Given the description of an element on the screen output the (x, y) to click on. 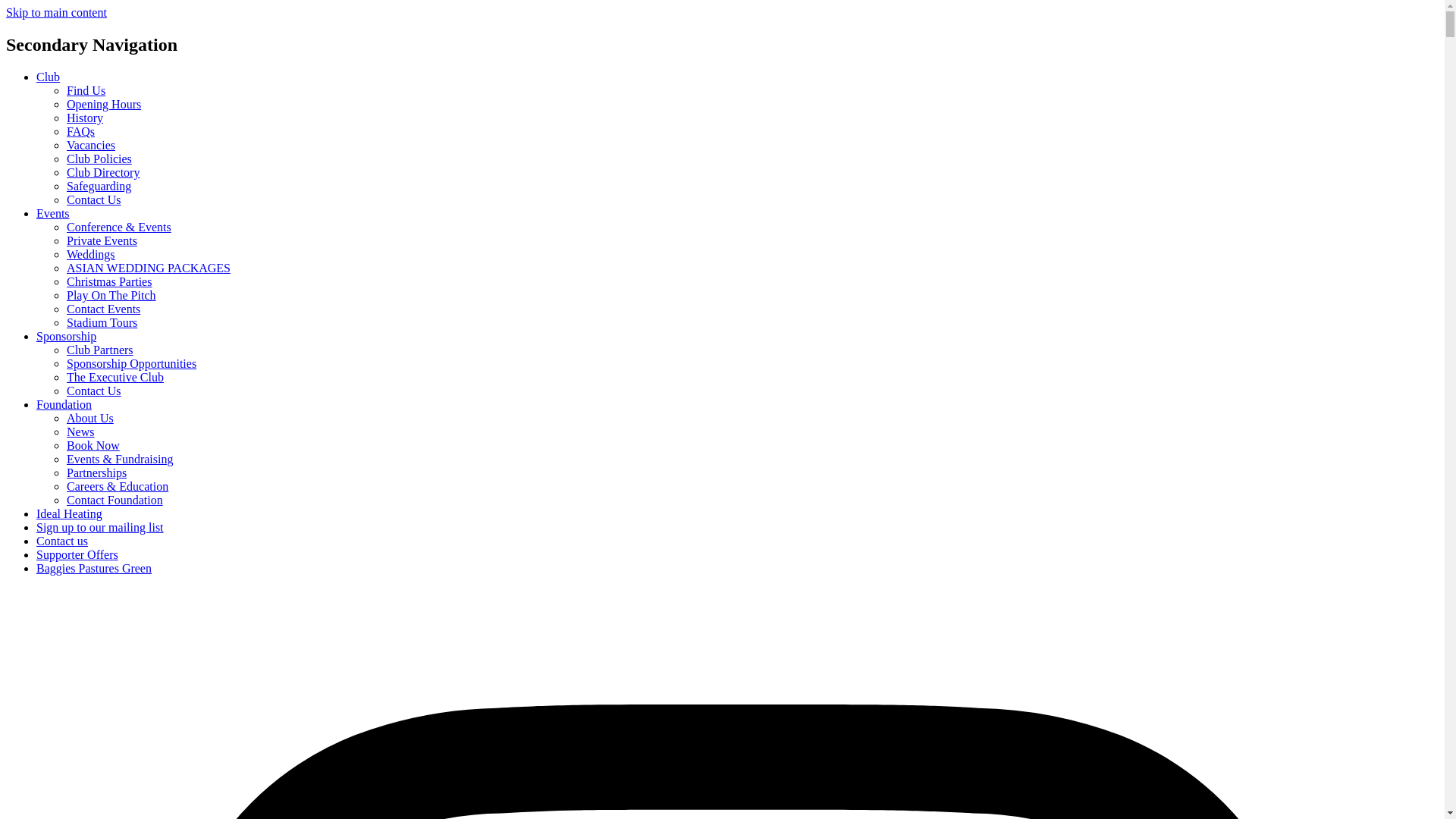
The Executive Club (114, 377)
About Us (89, 418)
Sponsorship and Partnership Packages (131, 363)
History (84, 117)
Contact the Partnerships Team (93, 390)
Club Partners (99, 349)
Weddings (90, 254)
Contact Events (102, 308)
ASIAN WEDDING PACKAGES (148, 267)
Private Events (101, 240)
Contact Foundation (114, 499)
Opening Hours (103, 103)
Events (52, 213)
Vacancies (90, 144)
Contact us (61, 540)
